Given the description of an element on the screen output the (x, y) to click on. 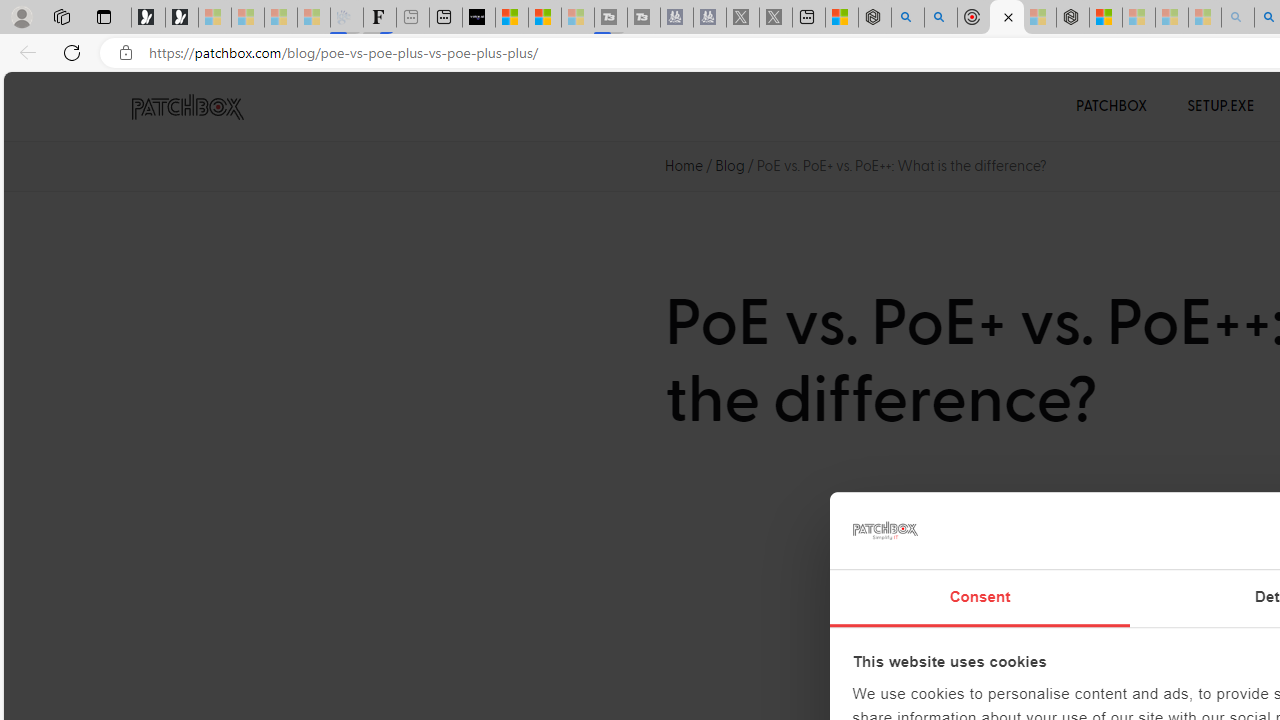
Nordace - Nordace Siena Is Not An Ordinary Backpack (1073, 17)
New tab - Sleeping (412, 17)
Home (684, 165)
SETUP.EXE (1220, 106)
What's the best AI voice generator? - voice.ai (479, 17)
logo (884, 530)
